Given the description of an element on the screen output the (x, y) to click on. 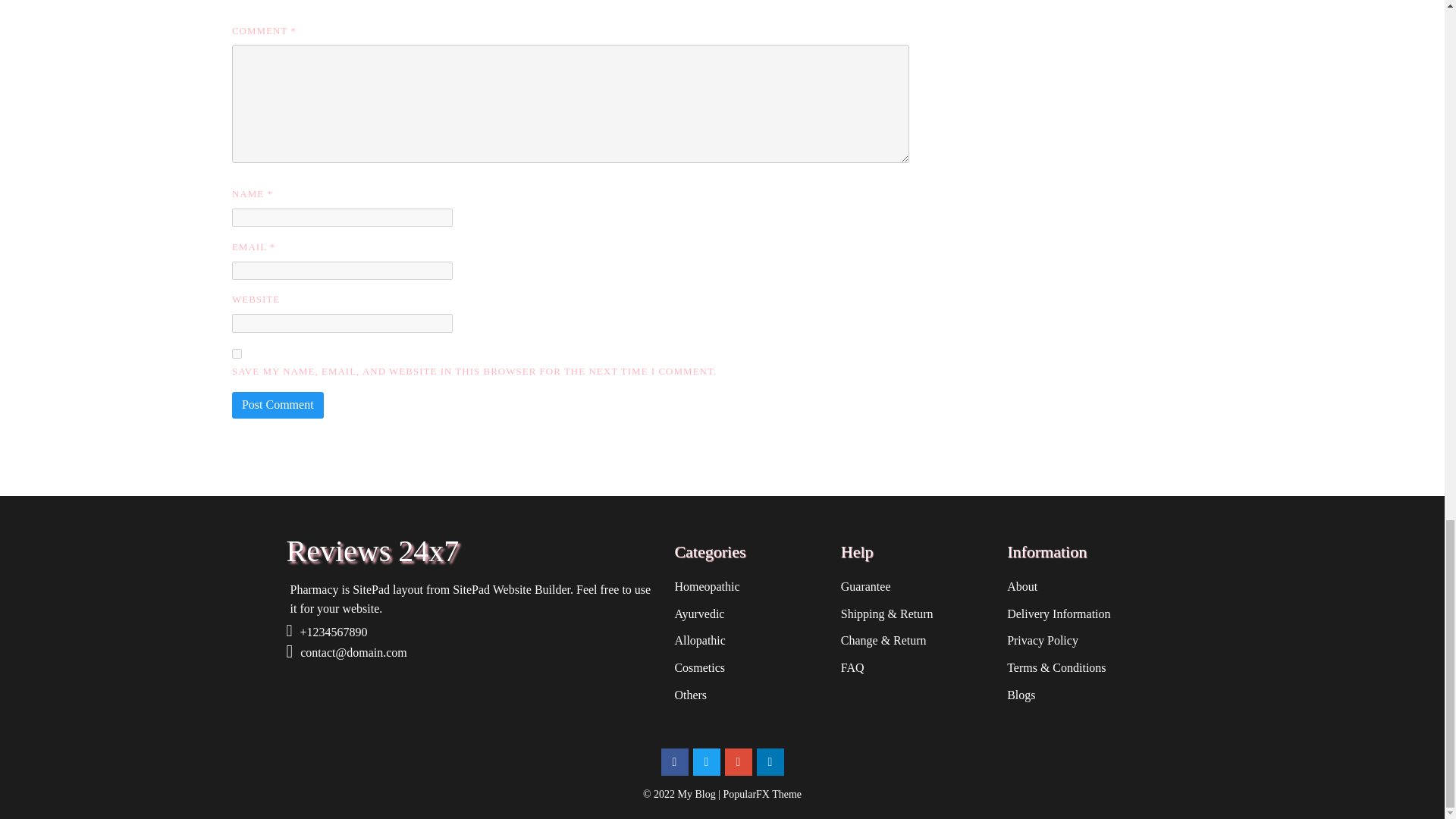
PopularFX Theme (762, 794)
Post Comment (277, 404)
Post Comment (277, 404)
yes (236, 353)
Reviews 24x7 (472, 551)
